Given the description of an element on the screen output the (x, y) to click on. 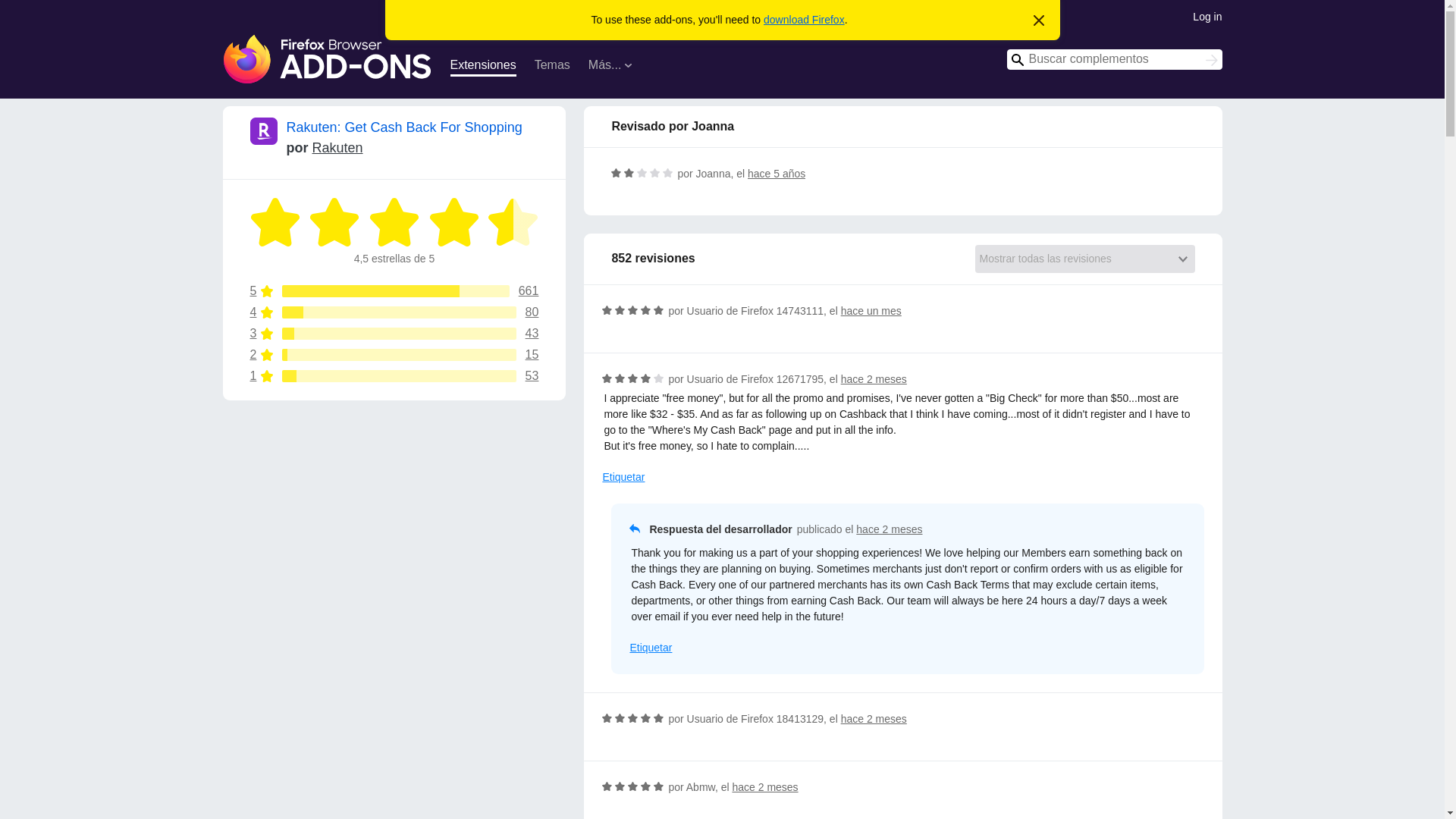
hace 2 meses (394, 333)
Read all 53 one-star reviews (764, 787)
Buscar (394, 376)
Rakuten (1212, 61)
Read all 80 four-star reviews (337, 147)
Temas (394, 354)
Extensiones (394, 312)
hace 2 meses (394, 312)
Read all 661 five-star reviews (552, 66)
20 de nov. de 2019 2:52 (394, 291)
Rakuten: Get Cash Back For Shopping (482, 66)
